Given the description of an element on the screen output the (x, y) to click on. 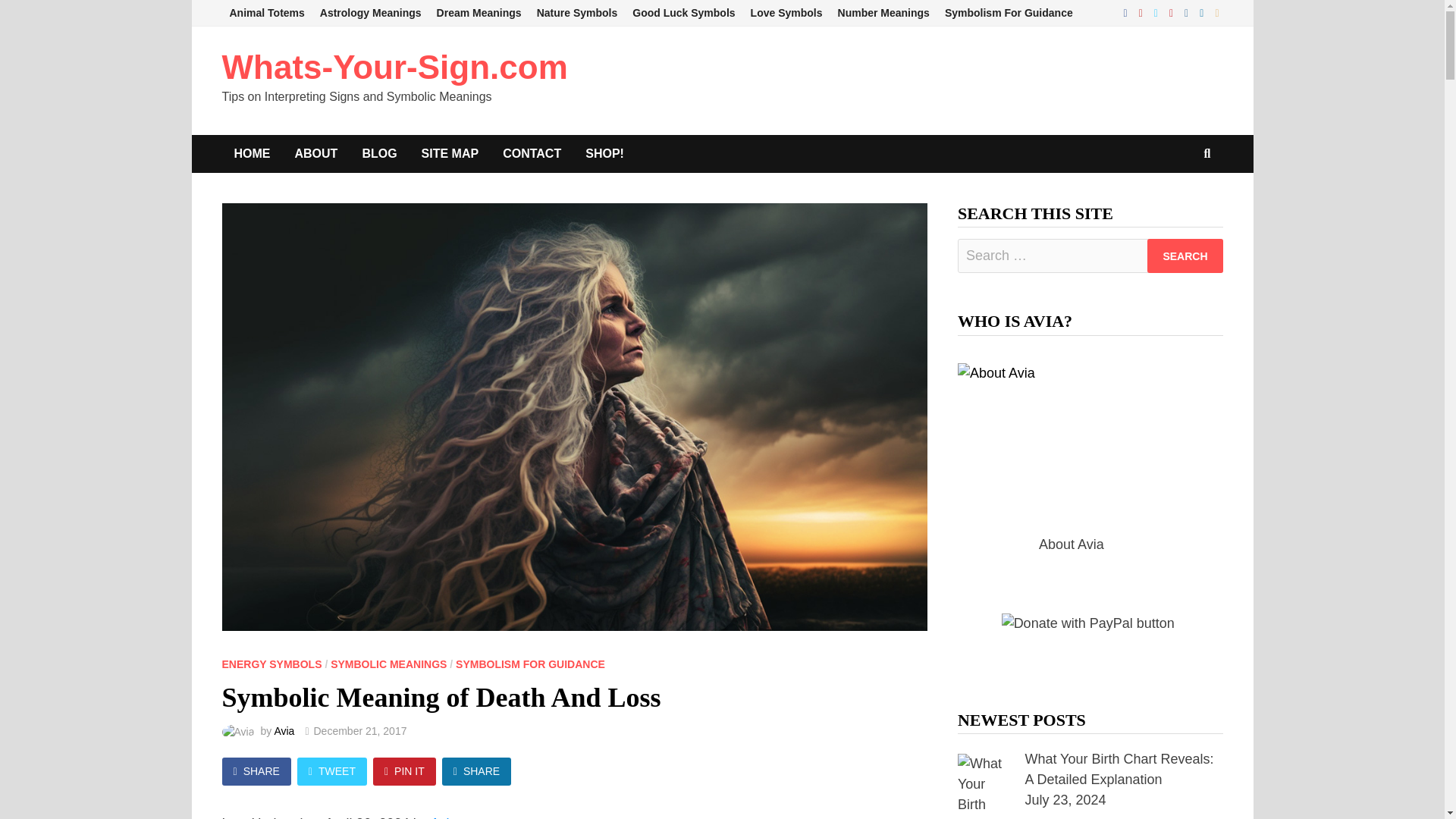
Whats-Your-Sign.com (394, 66)
Good Luck Symbols (683, 13)
Number Meanings (883, 13)
HOME (251, 153)
CONTACT (531, 153)
Youtube (1142, 11)
Dream Meanings (479, 13)
Search (1185, 255)
Twitter (1158, 11)
Instagram (1187, 11)
Pinterest (1173, 11)
Email (1217, 11)
Search (1185, 255)
SITE MAP (450, 153)
Nature Symbols (577, 13)
